Given the description of an element on the screen output the (x, y) to click on. 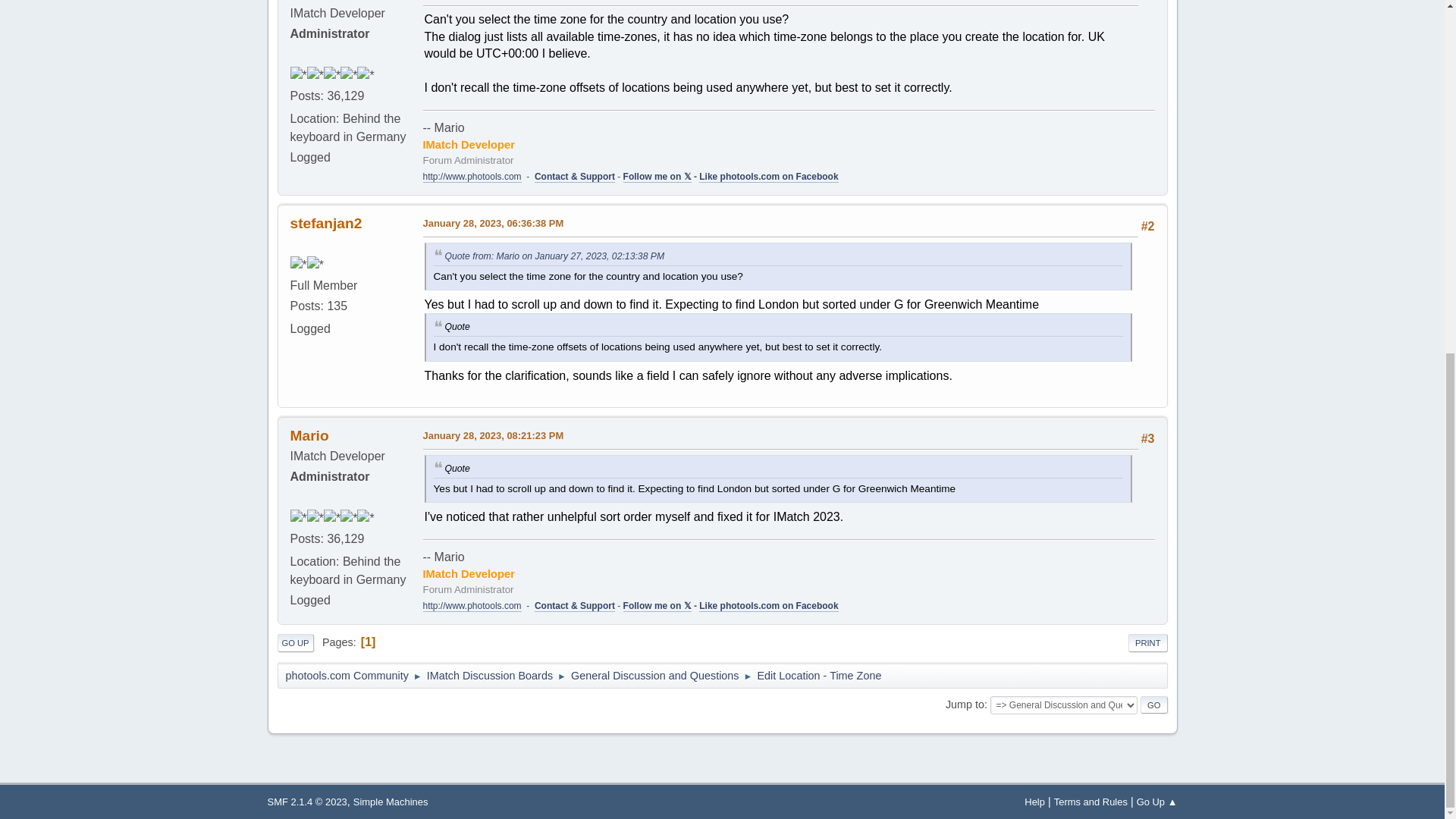
Go (1153, 705)
Simple Machines (390, 801)
License (306, 801)
Mario (309, 435)
View the profile of stefanjan2 (325, 222)
stefanjan2 (325, 222)
Quote from: Mario on January 27, 2023, 02:13:38 PM (553, 255)
January 27, 2023, 02:13:38 PM (493, 0)
View the profile of Mario (309, 435)
Like photools.com on Facebook (768, 176)
January 28, 2023, 06:36:38 PM (493, 223)
